Given the description of an element on the screen output the (x, y) to click on. 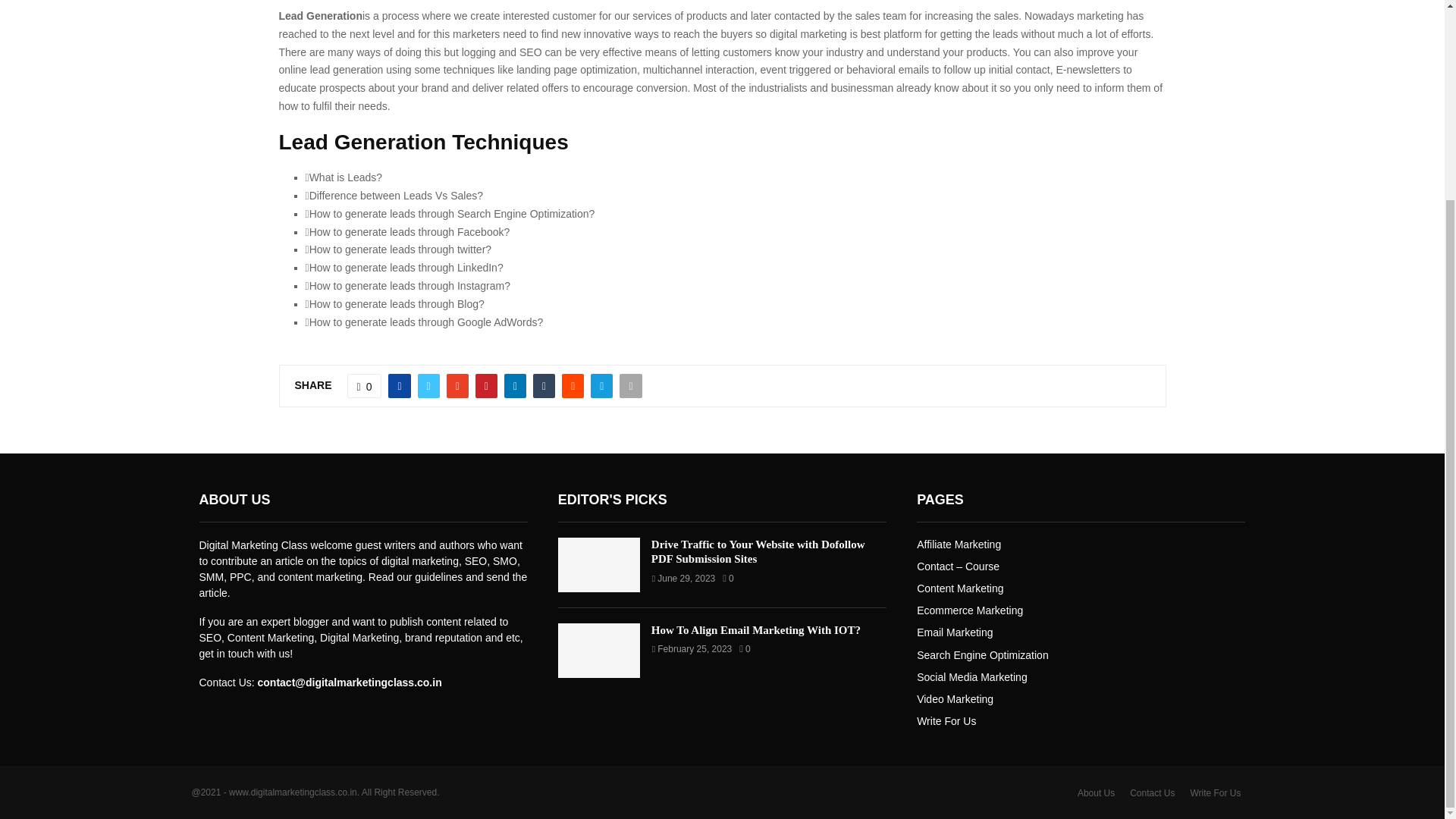
Like (364, 385)
Editor's  picks (611, 499)
0 (364, 385)
 How To Align Email Marketing With IOT?  (755, 630)
How To Align Email Marketing With IOT? (598, 650)
